Given the description of an element on the screen output the (x, y) to click on. 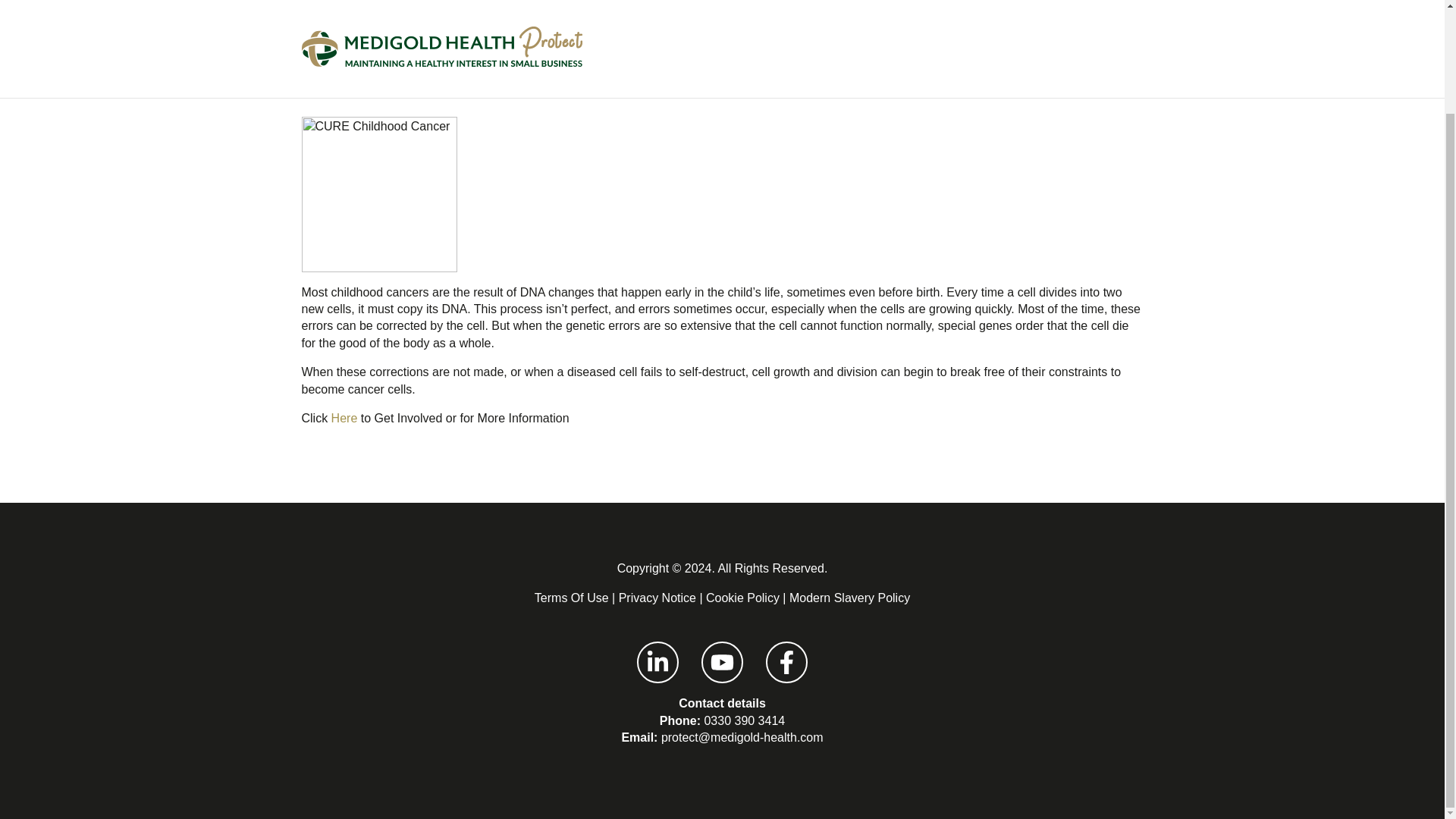
Terms Of Use (571, 597)
0330 390 3414 (743, 720)
Cookie Policy (742, 597)
Here (344, 418)
Privacy Notice (656, 597)
Modern Slavery Policy (849, 597)
